Given the description of an element on the screen output the (x, y) to click on. 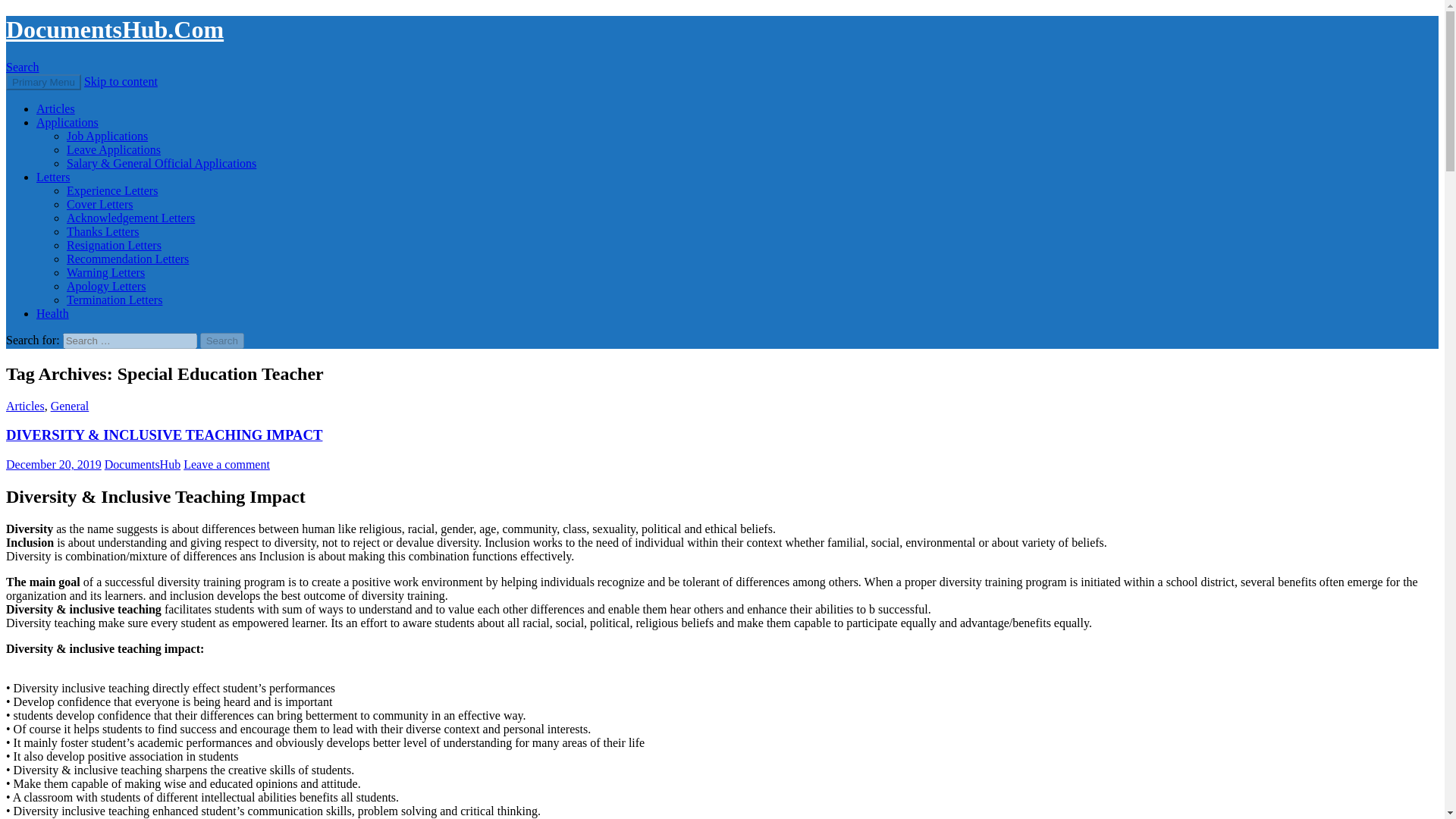
Leave Applications (113, 149)
Termination Letters (113, 299)
General (69, 405)
Articles (25, 405)
Leave a comment (226, 463)
Articles (55, 108)
DocumentsHub.Com (114, 29)
Health (52, 313)
Cover Letters (99, 204)
Acknowledgement Letters (130, 217)
